Given the description of an element on the screen output the (x, y) to click on. 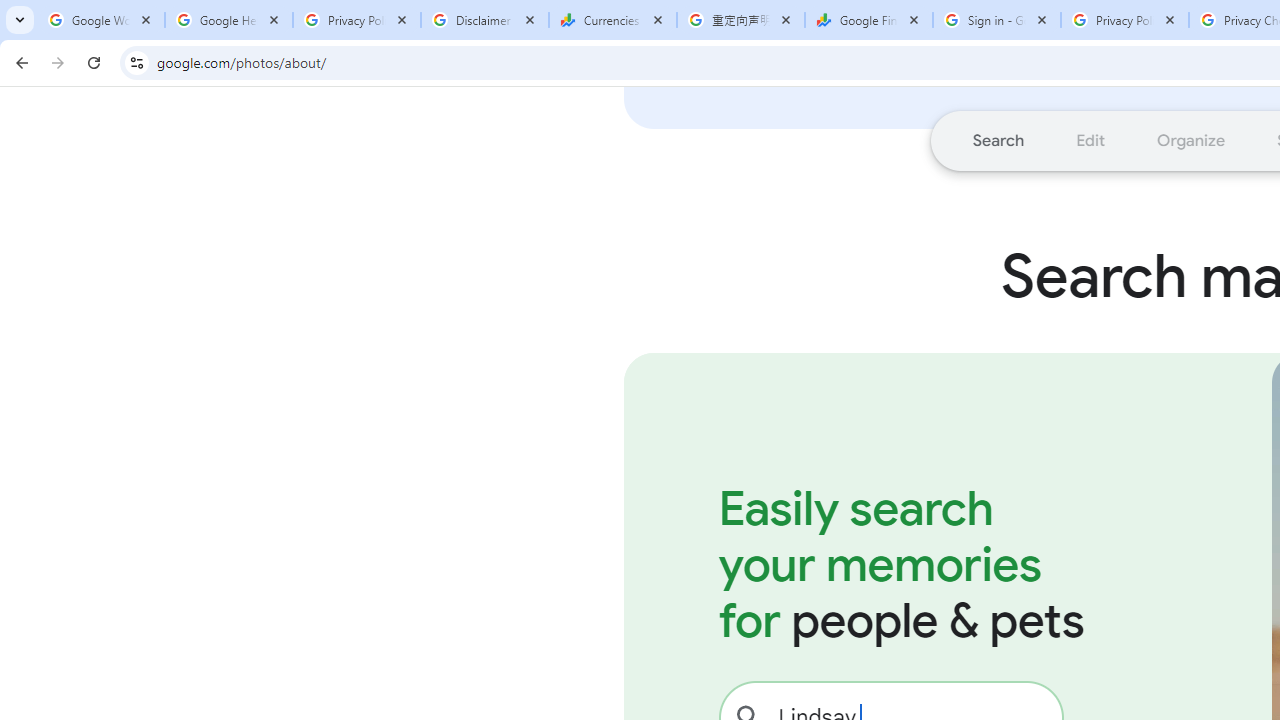
Go to section: Edit (1090, 140)
Google Workspace Admin Community (101, 20)
Go to section: Search (998, 140)
Go to section: Organize (1191, 140)
